Given the description of an element on the screen output the (x, y) to click on. 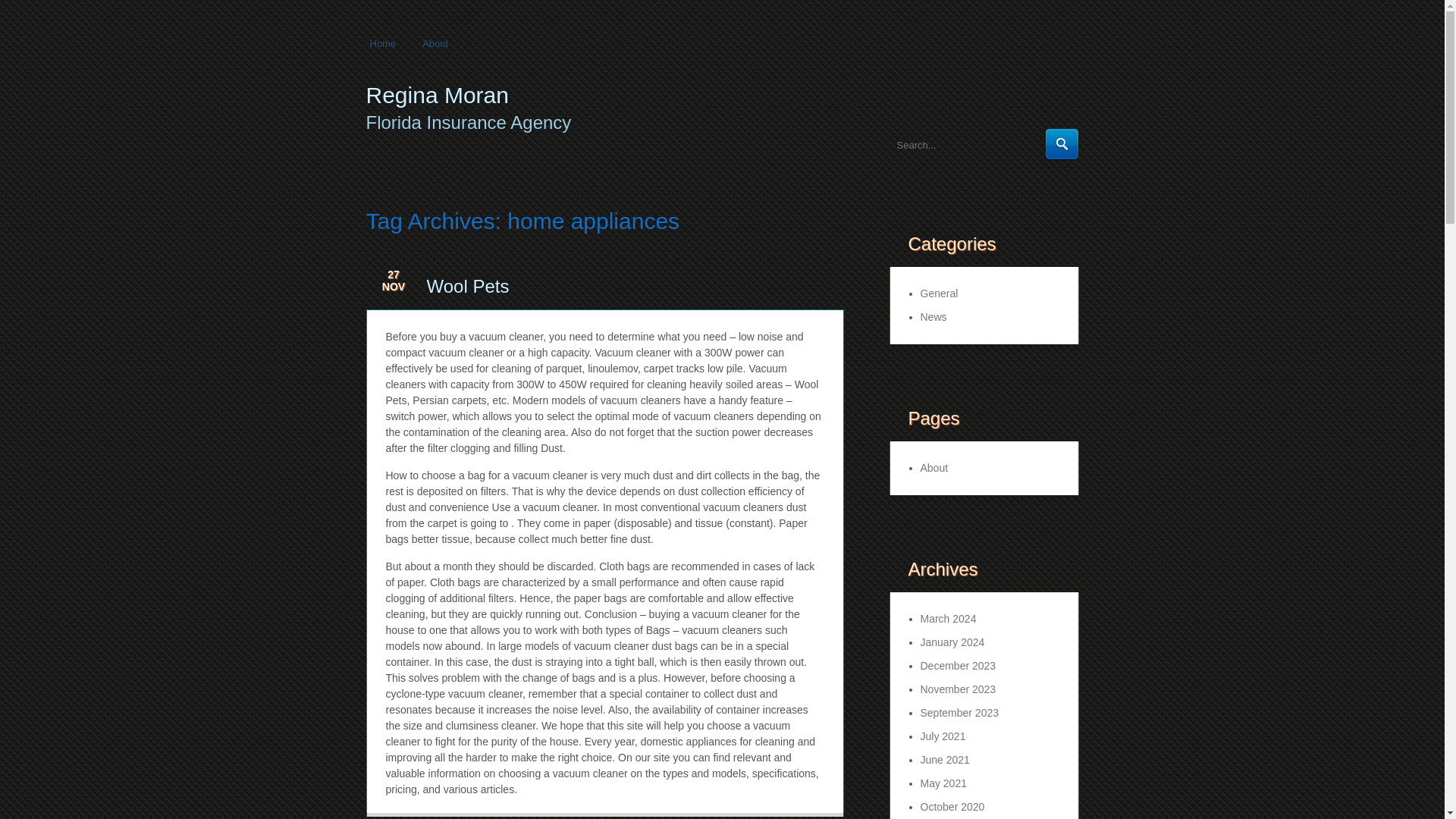
Home (380, 45)
July 2021 (943, 736)
About (431, 45)
Regina Moran (436, 94)
Wool Pets (467, 286)
Search (1061, 144)
General (939, 293)
May 2021 (943, 783)
Permalink to Wool Pets (467, 286)
About (934, 467)
